Given the description of an element on the screen output the (x, y) to click on. 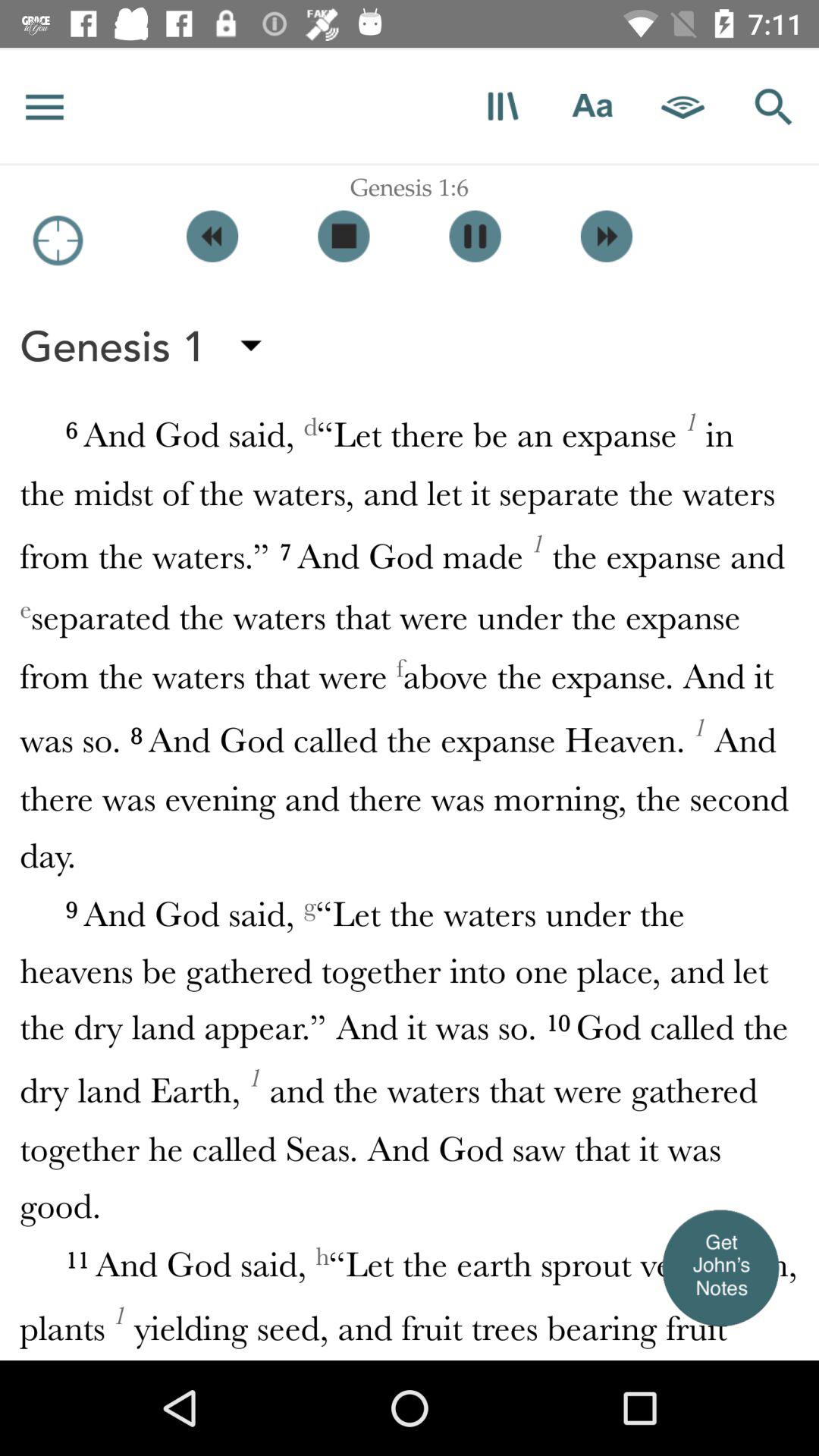
change font (592, 106)
